Given the description of an element on the screen output the (x, y) to click on. 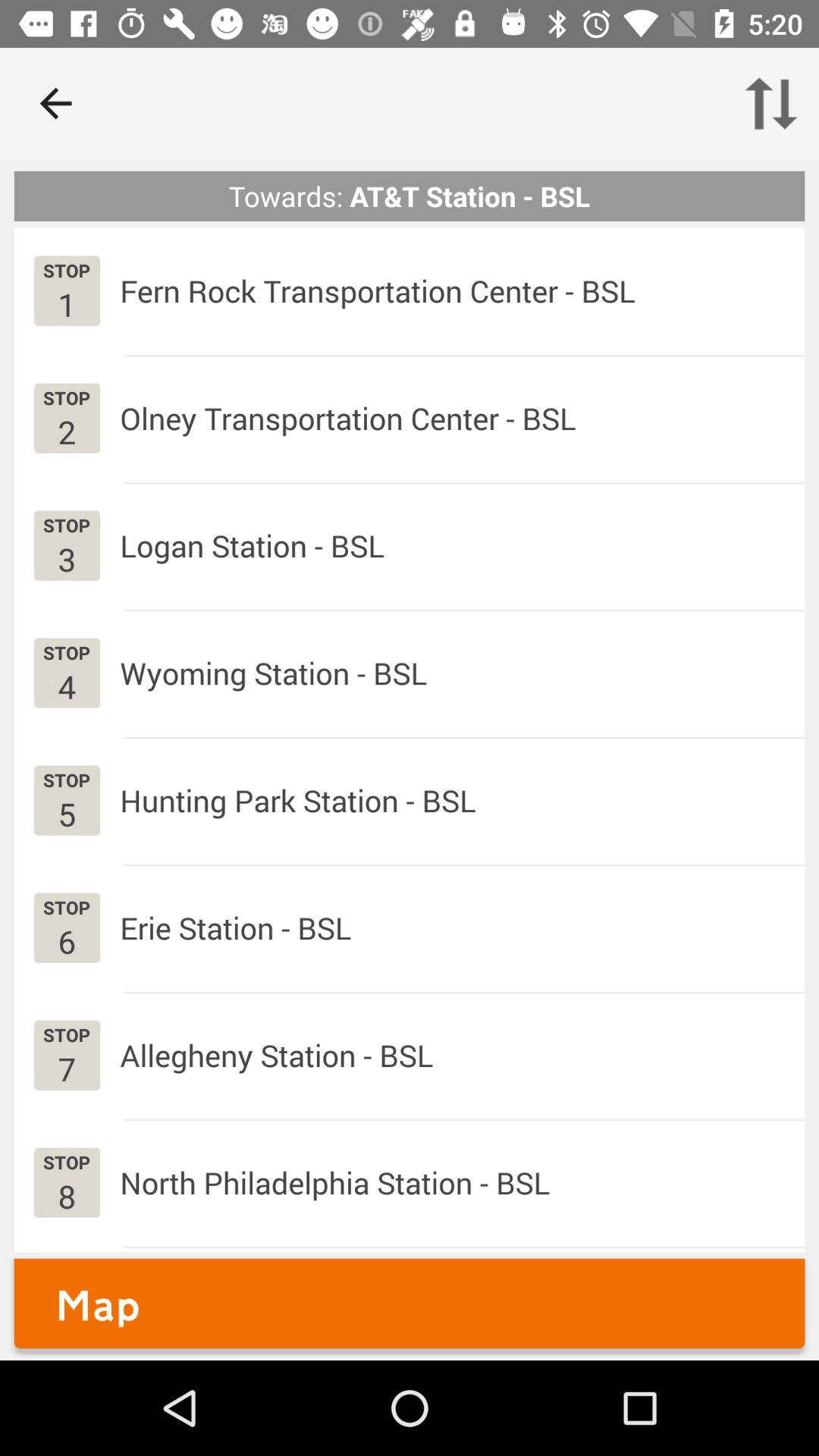
launch item to the right of the stop item (276, 1055)
